Given the description of an element on the screen output the (x, y) to click on. 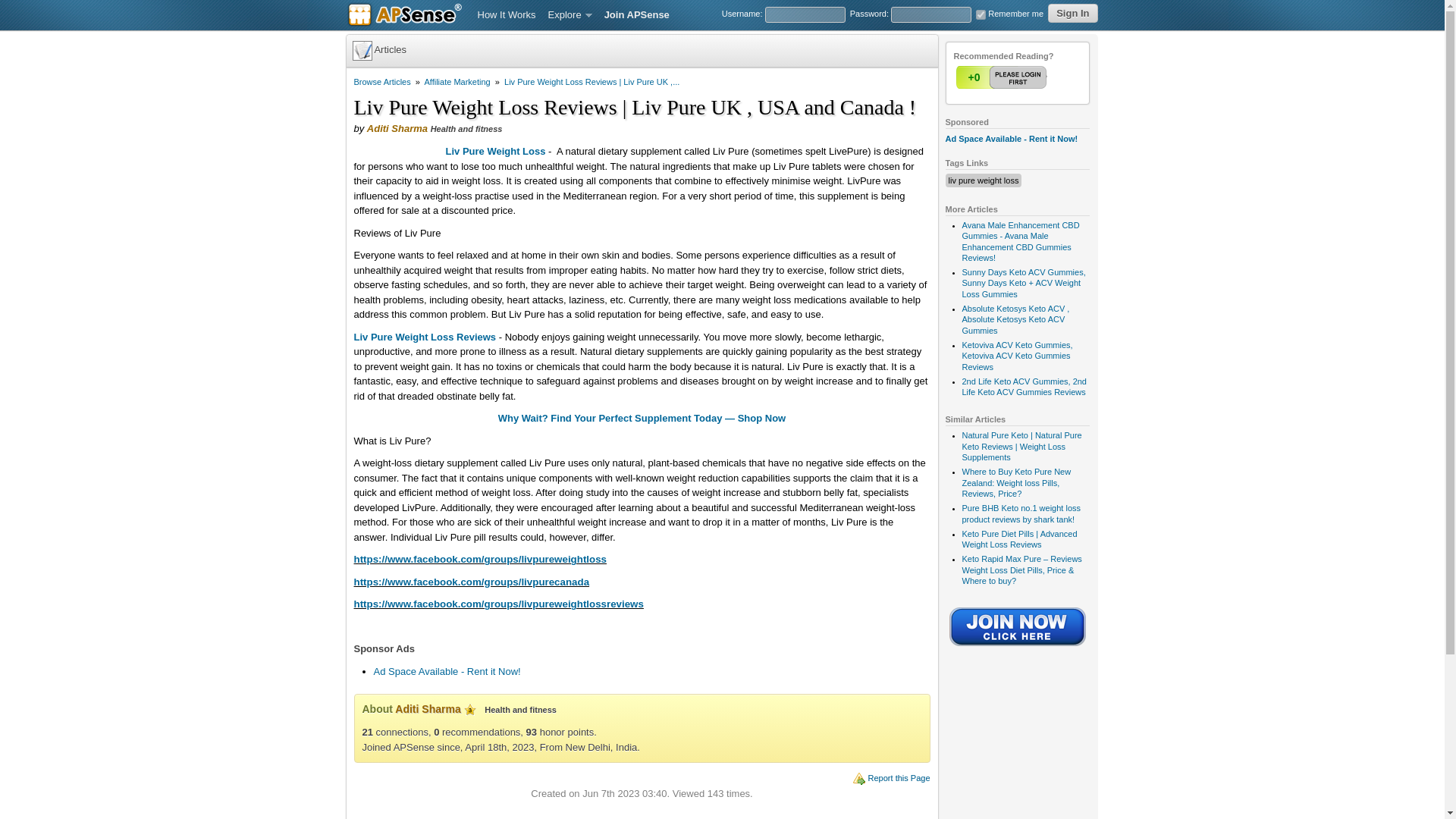
Vote Down (1031, 77)
Ad Space Available - Rent it Now! (445, 671)
Aditi Sharma (397, 128)
Ad Space Available - Rent it Now! (1010, 138)
-1 (1031, 77)
Innovator (470, 709)
Affiliate Marketing (456, 81)
